Given the description of an element on the screen output the (x, y) to click on. 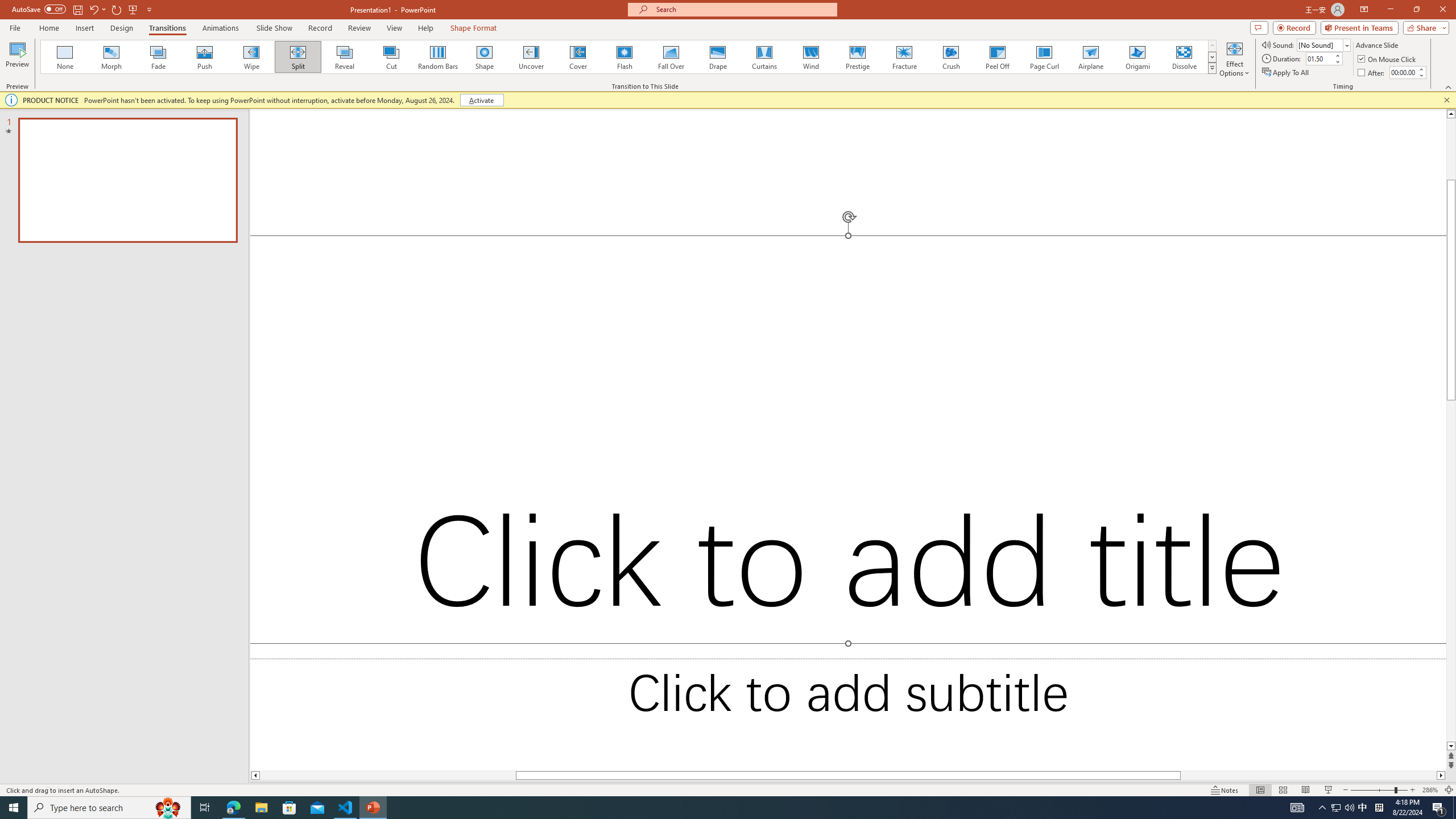
Zoom 286% (1430, 790)
Sound (1324, 44)
Fade (158, 56)
